Given the description of an element on the screen output the (x, y) to click on. 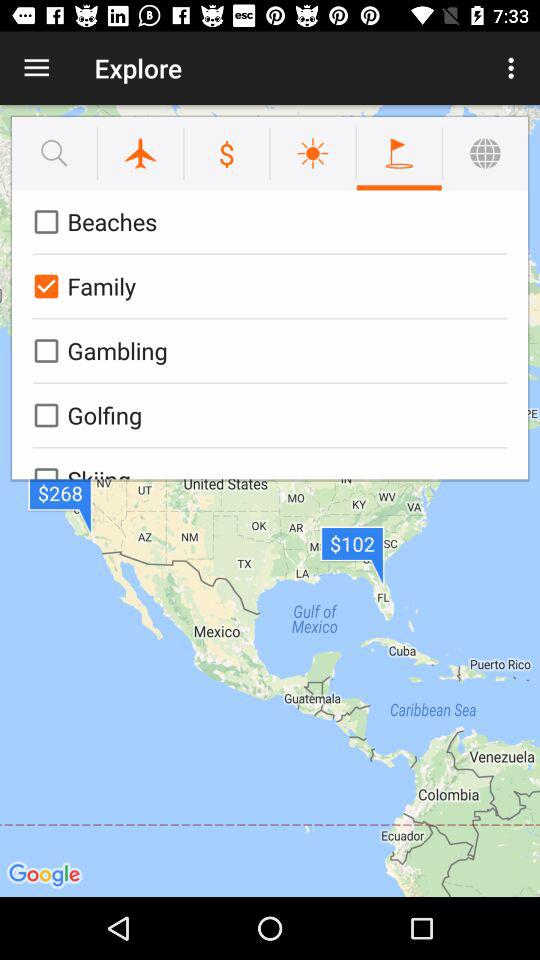
press the gambling item (266, 350)
